Given the description of an element on the screen output the (x, y) to click on. 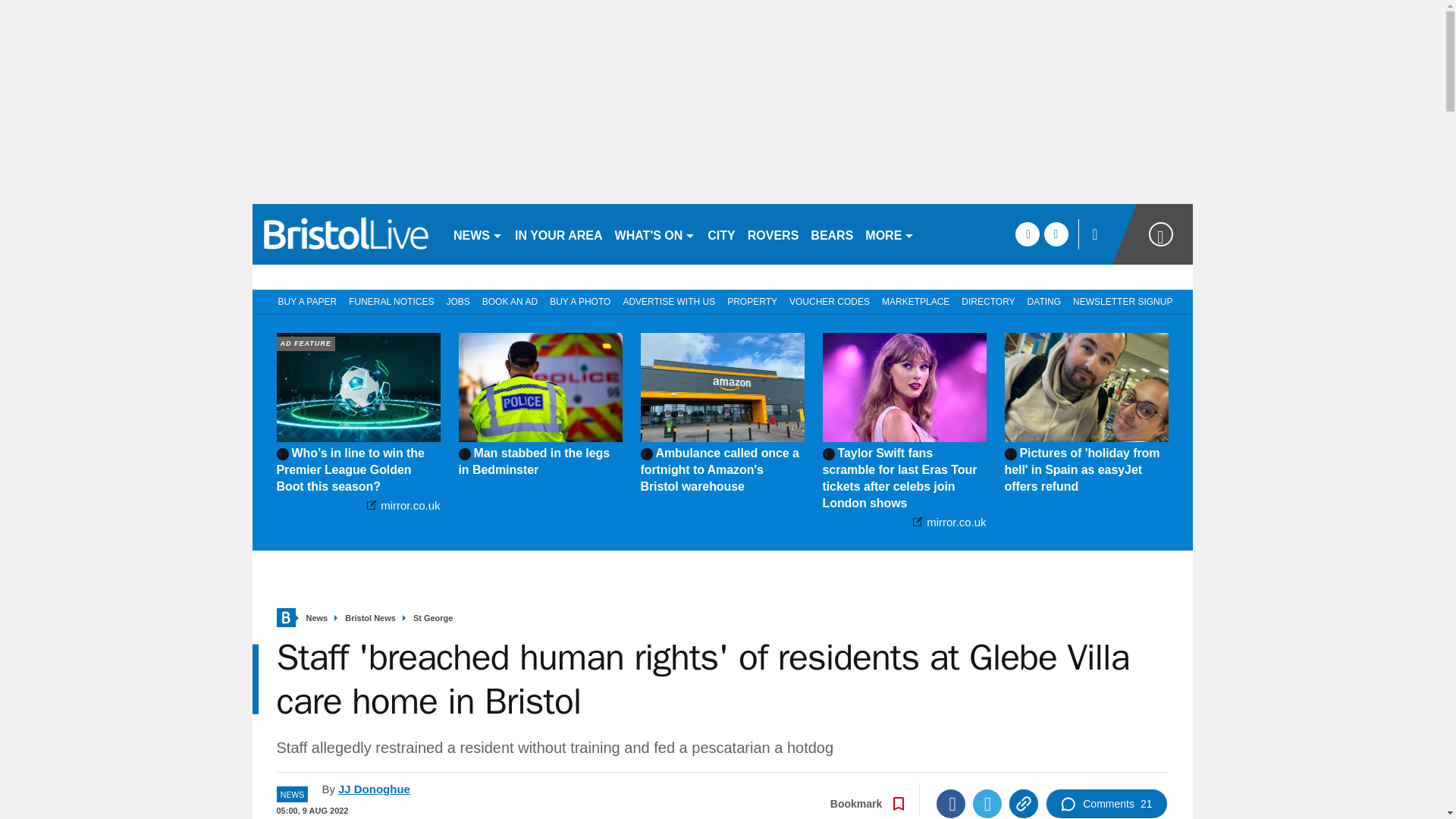
facebook (1026, 233)
BEARS (832, 233)
ROVERS (773, 233)
MORE (889, 233)
Facebook (950, 803)
twitter (1055, 233)
Comments (1105, 803)
IN YOUR AREA (558, 233)
WHAT'S ON (654, 233)
bristolpost (345, 233)
